Given the description of an element on the screen output the (x, y) to click on. 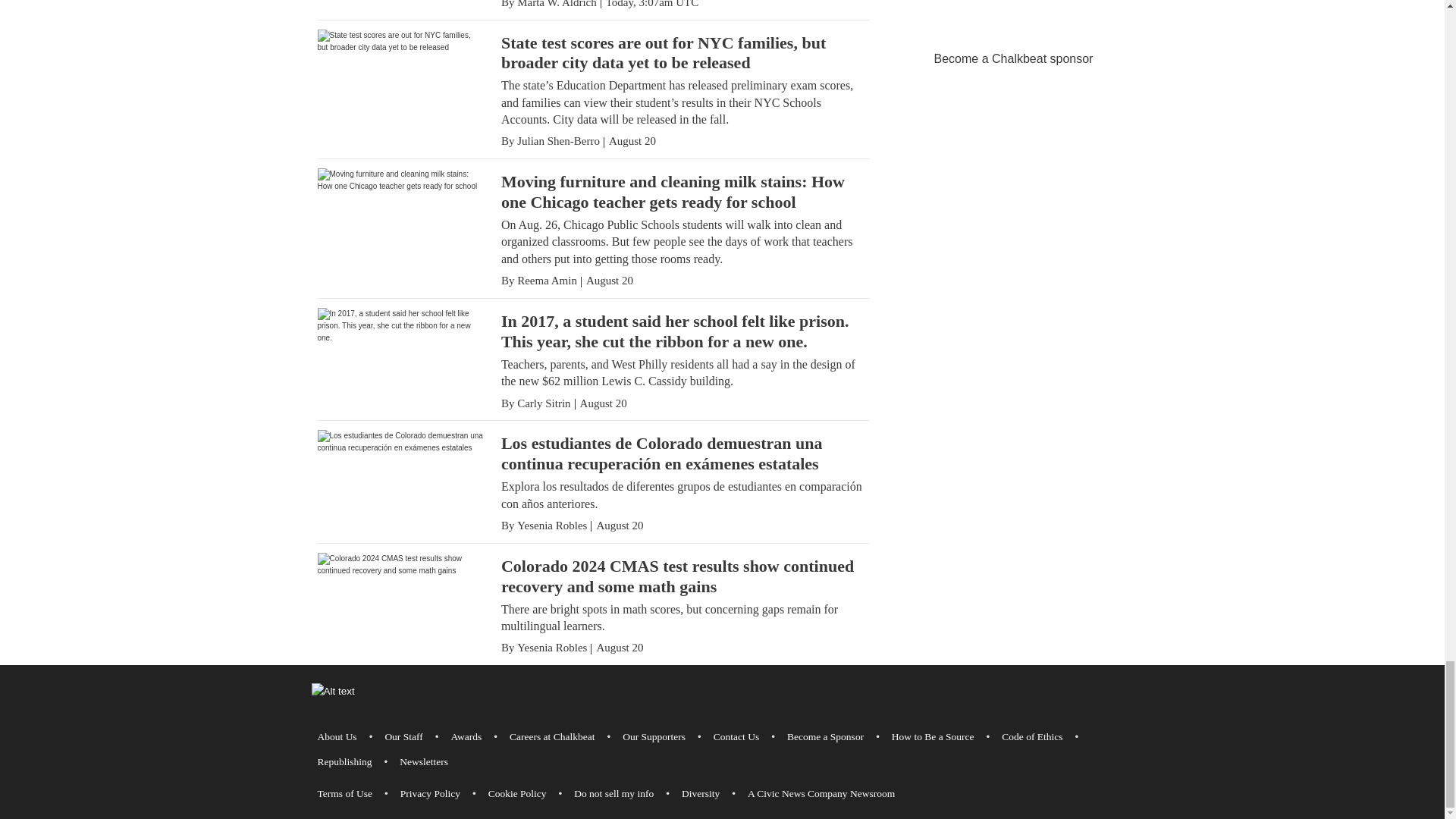
Marta W. Aldrich (556, 4)
